Given the description of an element on the screen output the (x, y) to click on. 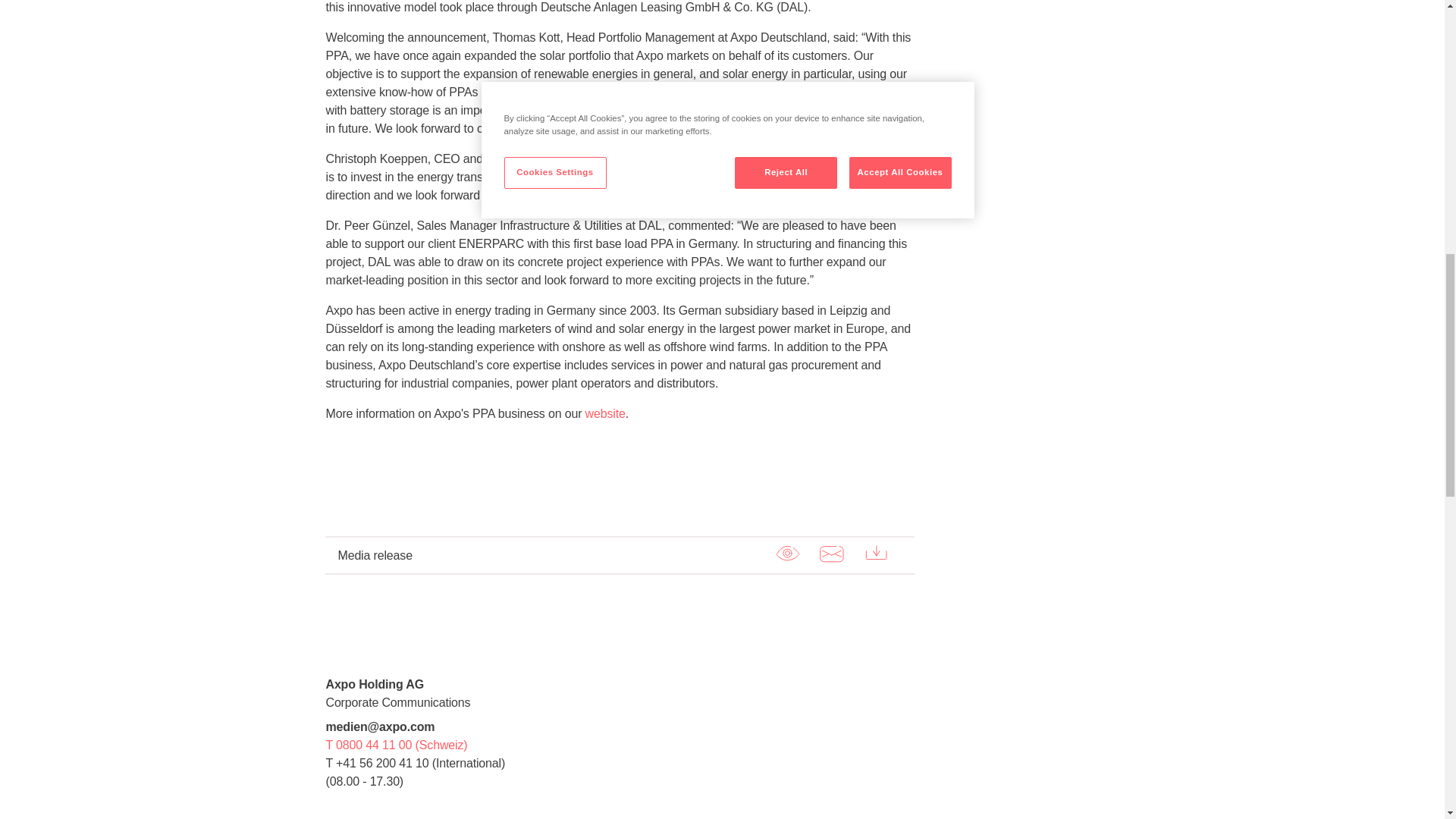
View (786, 553)
Send email (831, 553)
website (605, 413)
Send email (831, 553)
Download (876, 553)
